Given the description of an element on the screen output the (x, y) to click on. 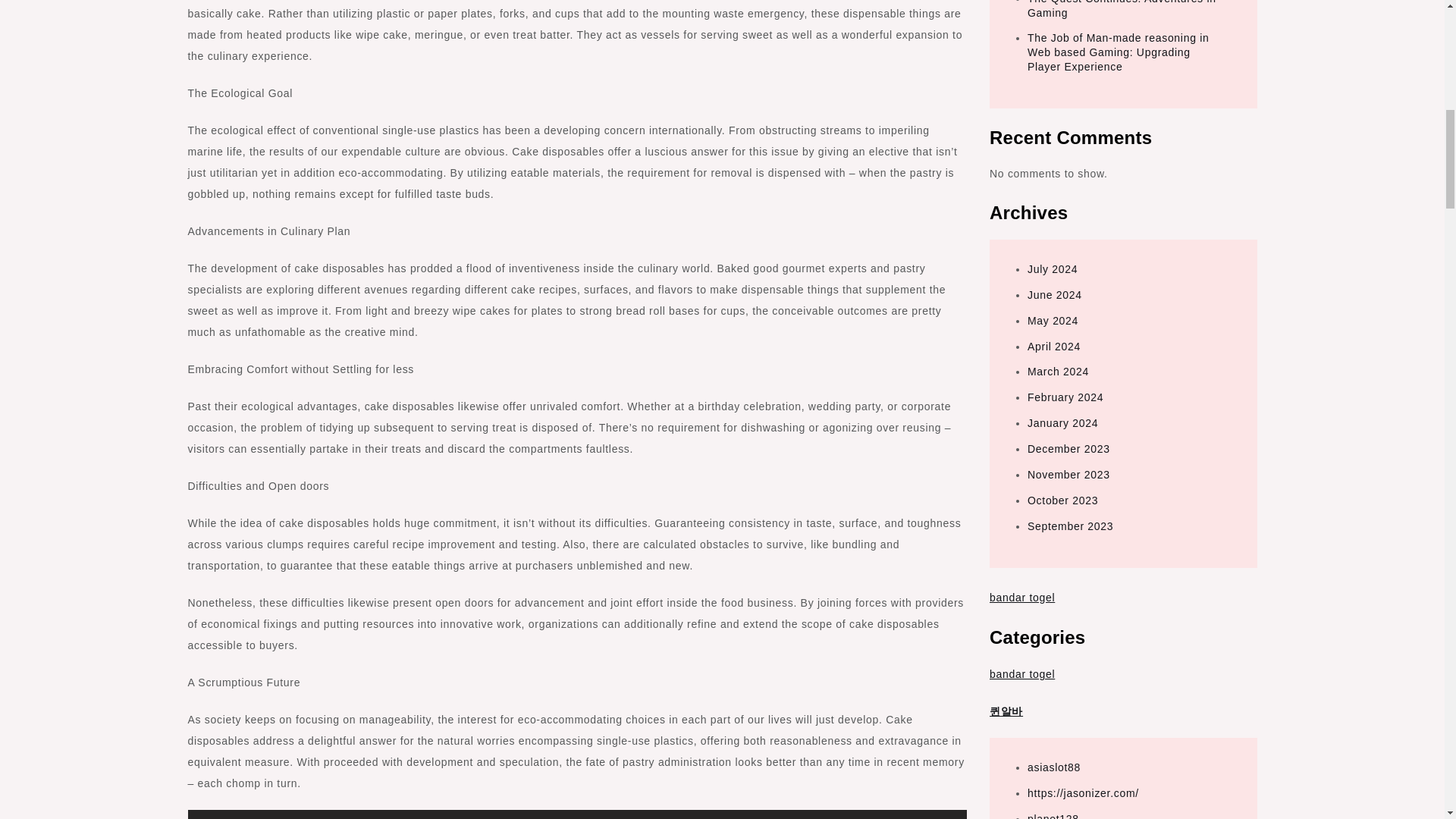
The Quest Continues: Adventures in Gaming (1121, 9)
February 2024 (1065, 397)
December 2023 (1068, 449)
January 2024 (1062, 422)
bandar togel (1022, 674)
November 2023 (1068, 474)
September 2023 (1070, 526)
planet128 (1052, 816)
bandar togel (1022, 597)
October 2023 (1062, 500)
April 2024 (1053, 346)
June 2024 (1054, 295)
May 2024 (1052, 320)
asiaslot88 (1053, 767)
March 2024 (1058, 371)
